Given the description of an element on the screen output the (x, y) to click on. 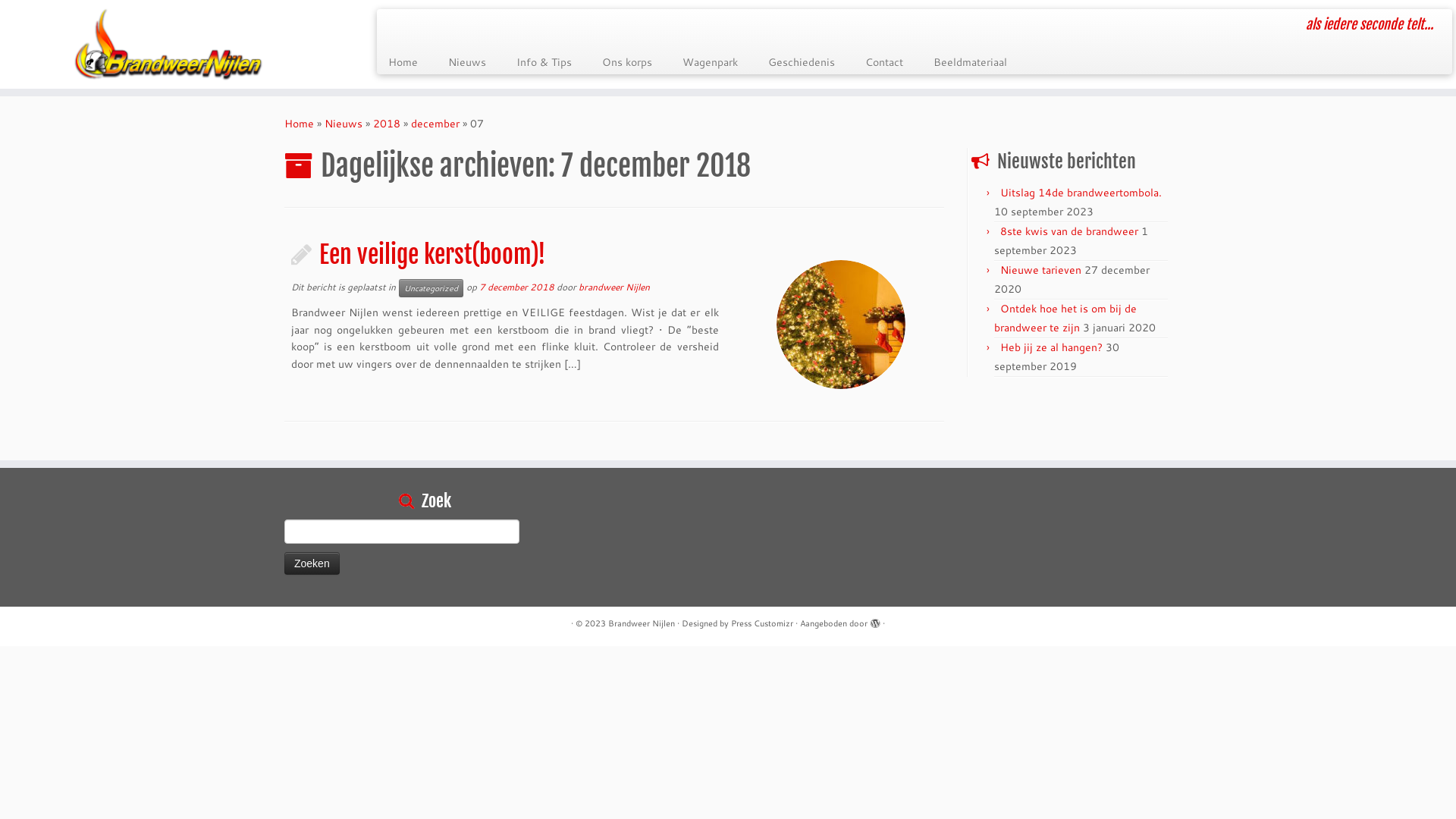
Een veilige kerst(boom)! Element type: text (432, 254)
Brandweer Nijlen Element type: text (641, 623)
Ontdek hoe het is om bij de brandweer te zijn Element type: text (1065, 318)
Info & Tips Element type: text (543, 62)
8ste kwis van de brandweer Element type: text (1069, 230)
Geschiedenis Element type: text (801, 62)
Contact Element type: text (884, 62)
Home Element type: text (408, 62)
Ons korps Element type: text (626, 62)
Nieuws Element type: text (467, 62)
Uitslag 14de brandweertombola. Element type: text (1080, 192)
Home Element type: text (298, 123)
Beeldmateriaal Element type: text (962, 62)
Brandweer Nijlen | als iedere seconde telt... Element type: hover (167, 44)
Uncategorized Element type: text (430, 288)
december Element type: text (435, 123)
Nieuwe tarieven Element type: text (1040, 269)
Nieuws Element type: text (343, 123)
Aangeboden door WordPress Element type: hover (874, 620)
Heb jij ze al hangen? Element type: text (1051, 346)
Zoeken Element type: text (311, 563)
Press Customizr Element type: text (762, 623)
Een veilige kerst(boom)! Element type: hover (840, 324)
brandweer Nijlen Element type: text (613, 286)
7 december 2018 Element type: text (516, 286)
Wagenpark Element type: text (710, 62)
2018 Element type: text (386, 123)
